Given the description of an element on the screen output the (x, y) to click on. 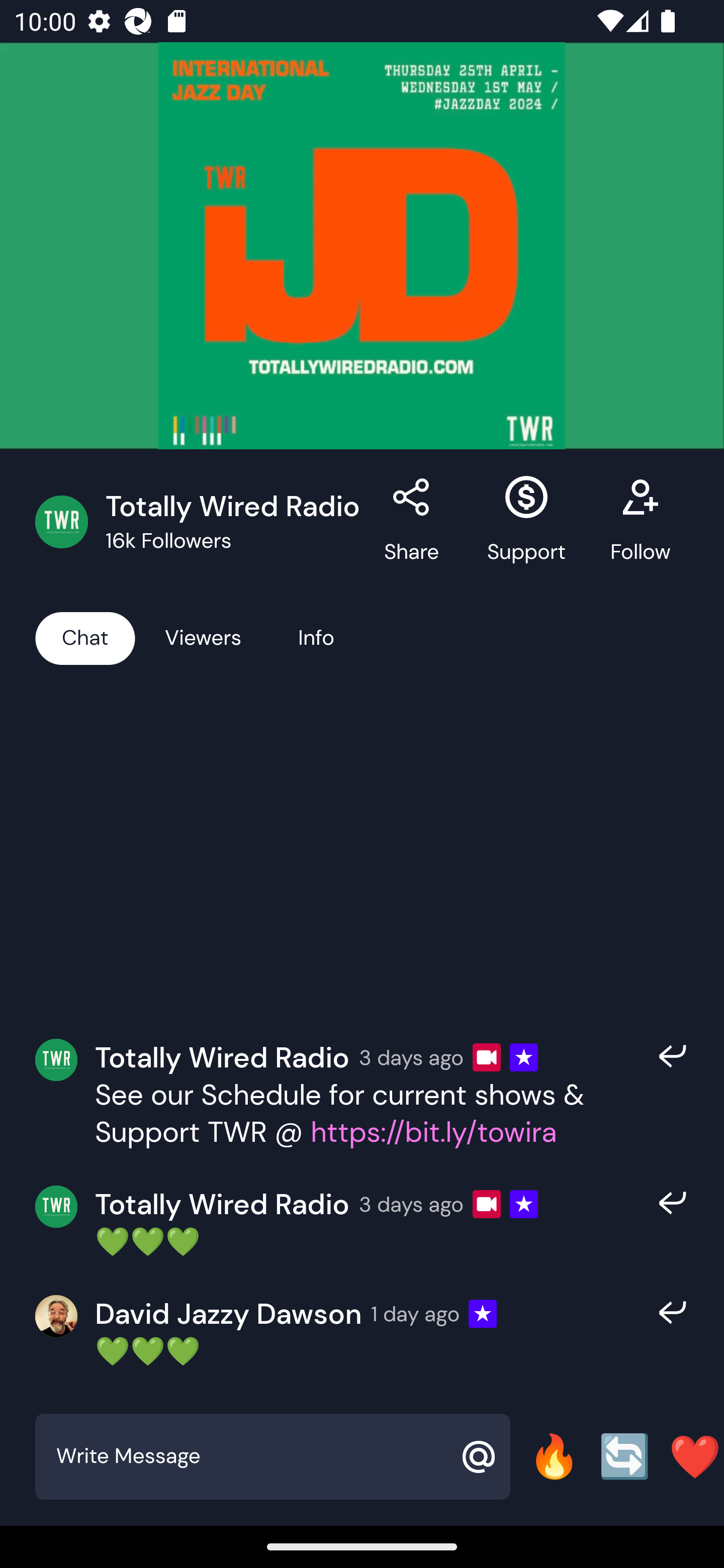
Share (411, 521)
Support (525, 521)
Follow (640, 521)
Chat (84, 636)
Viewers (203, 636)
Info (316, 636)
Totally Wired Radio (221, 1056)
Totally Wired Radio (221, 1204)
David Jazzy Dawson (228, 1313)
Write Message (250, 1456)
🔥 (553, 1456)
🔄 (624, 1456)
❤️ (694, 1456)
